Given the description of an element on the screen output the (x, y) to click on. 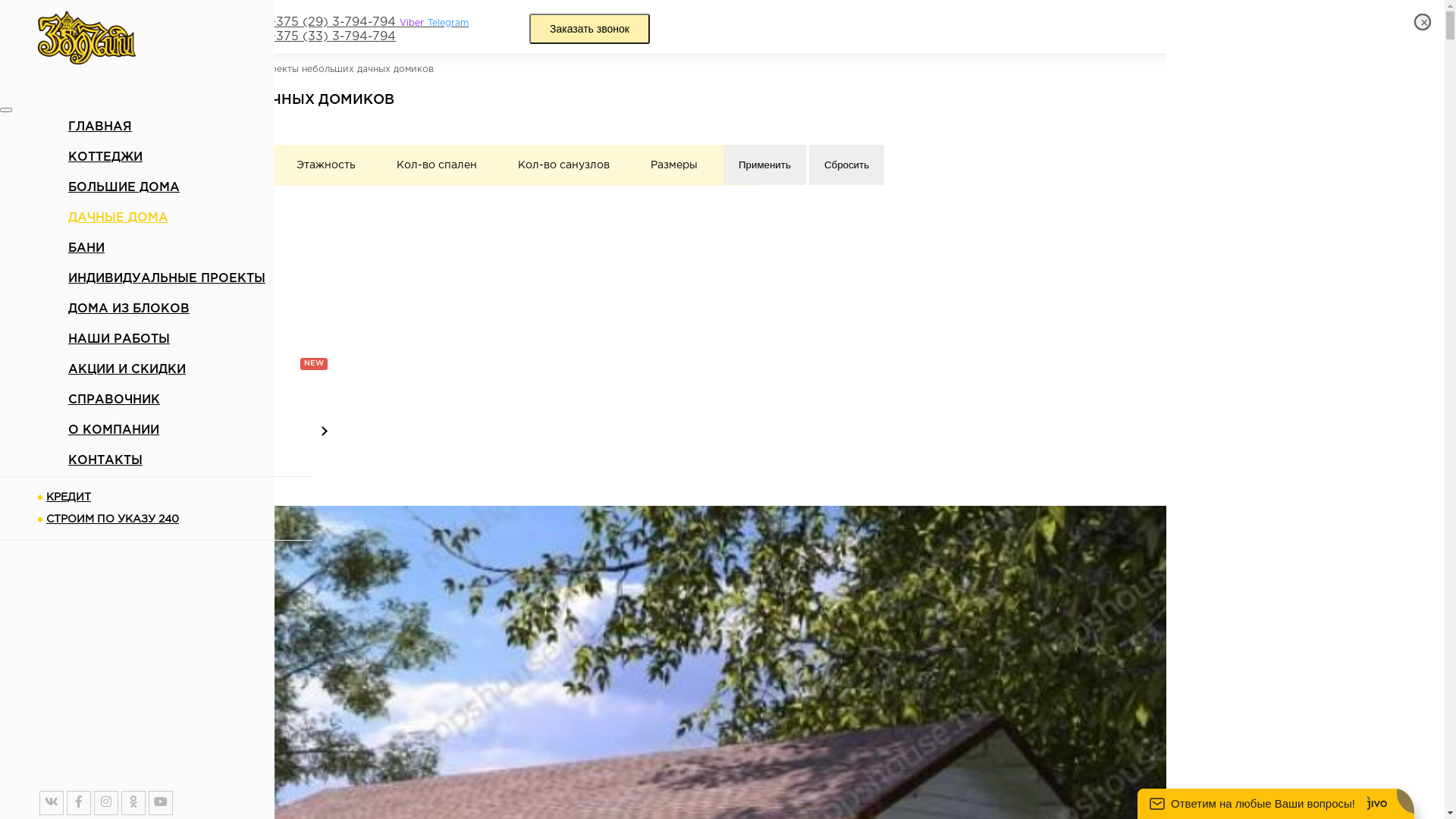
+375 (29) 3-794-794 Viber Telegram Element type: text (368, 22)
+375 (33) 3-794-794 Element type: text (331, 36)
